Given the description of an element on the screen output the (x, y) to click on. 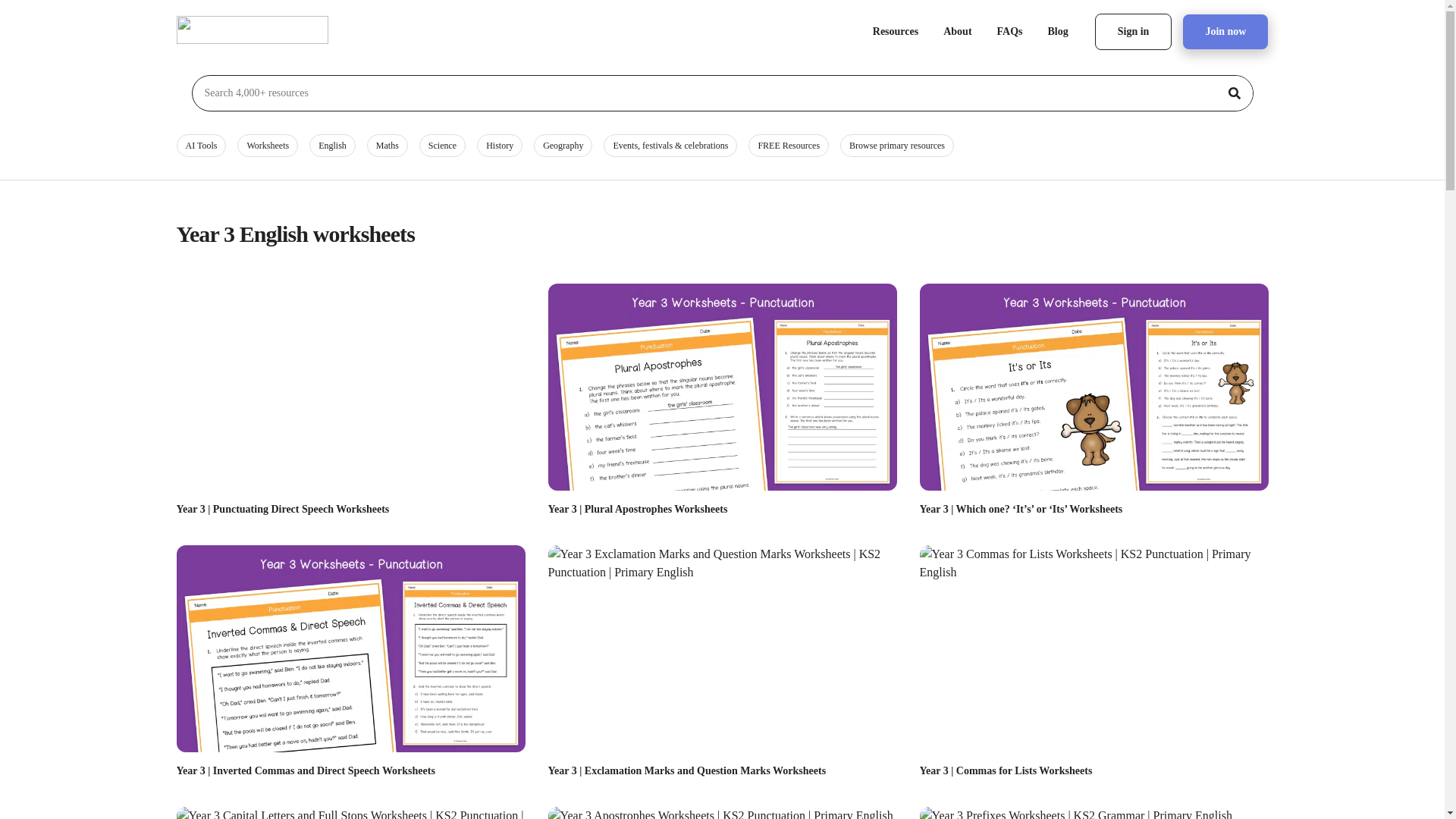
Science (442, 145)
Geography (563, 145)
English (331, 145)
Browse primary resources (896, 145)
Maths (386, 145)
Join now (1225, 31)
FAQs (1009, 31)
Sign in (1133, 31)
AI Tools (200, 145)
Worksheets (267, 145)
About (956, 31)
Resources (895, 31)
FREE Resources (788, 145)
History (499, 145)
Blog (1058, 31)
